Given the description of an element on the screen output the (x, y) to click on. 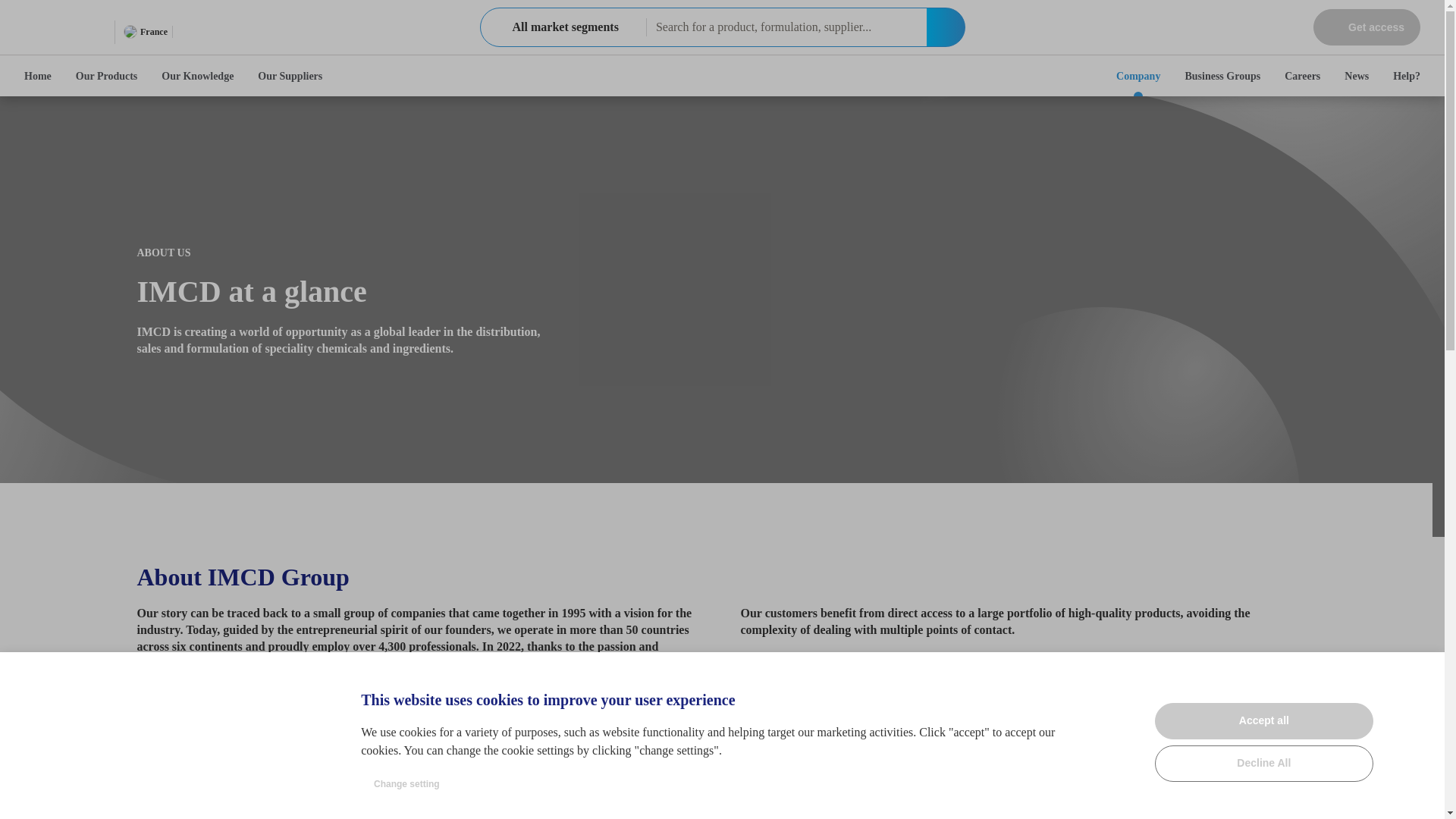
Settings (1421, 675)
Change setting (406, 784)
Get access (1367, 27)
Home (37, 76)
News (1356, 76)
Search (944, 27)
Settings (1421, 675)
Our Products (106, 76)
all (495, 27)
Read more on HSEQR (196, 786)
Business Groups (1222, 76)
Open Dropdown (212, 31)
Search (944, 27)
Company (563, 27)
